Given the description of an element on the screen output the (x, y) to click on. 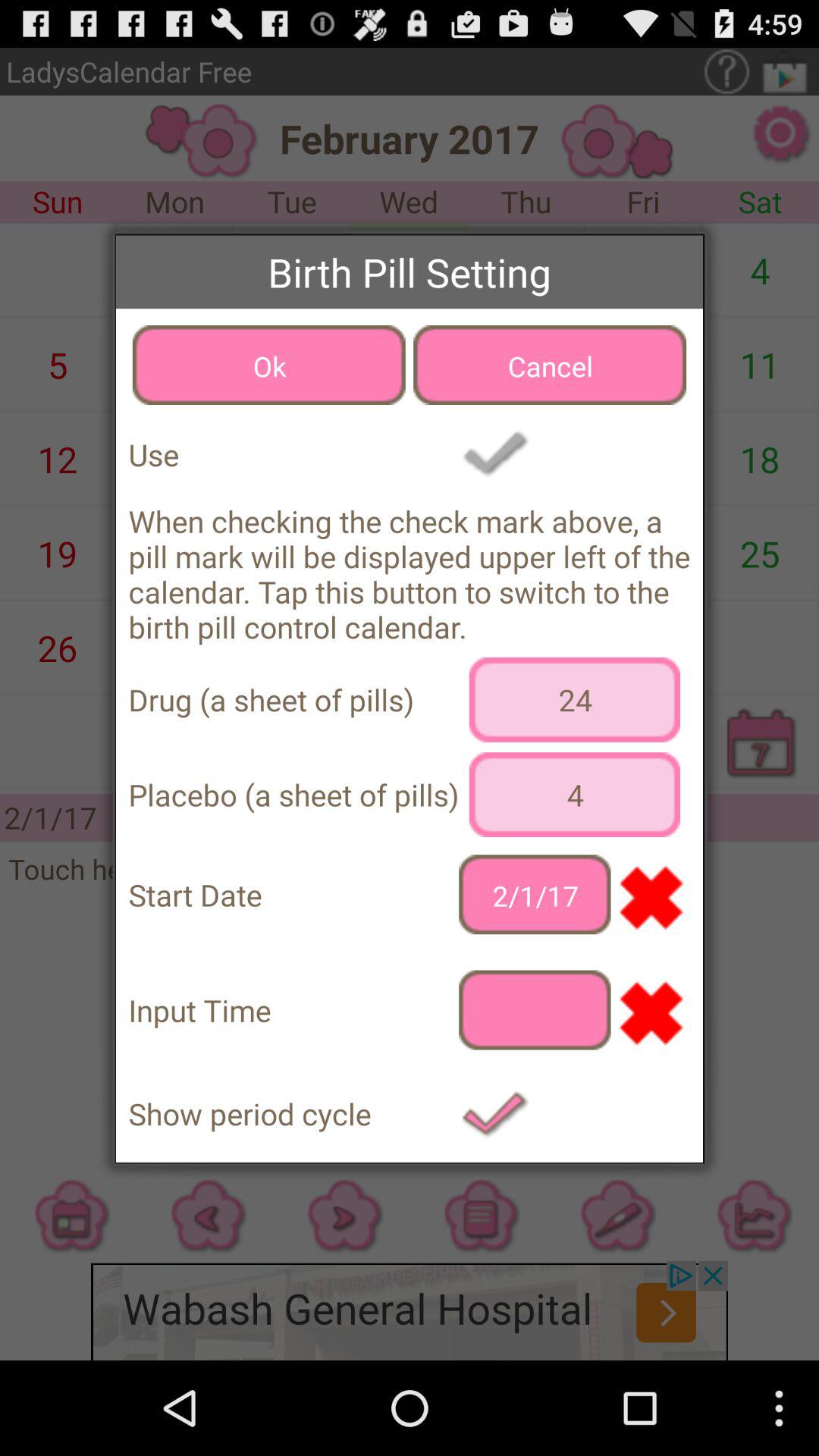
select 24 icon (574, 699)
